Given the description of an element on the screen output the (x, y) to click on. 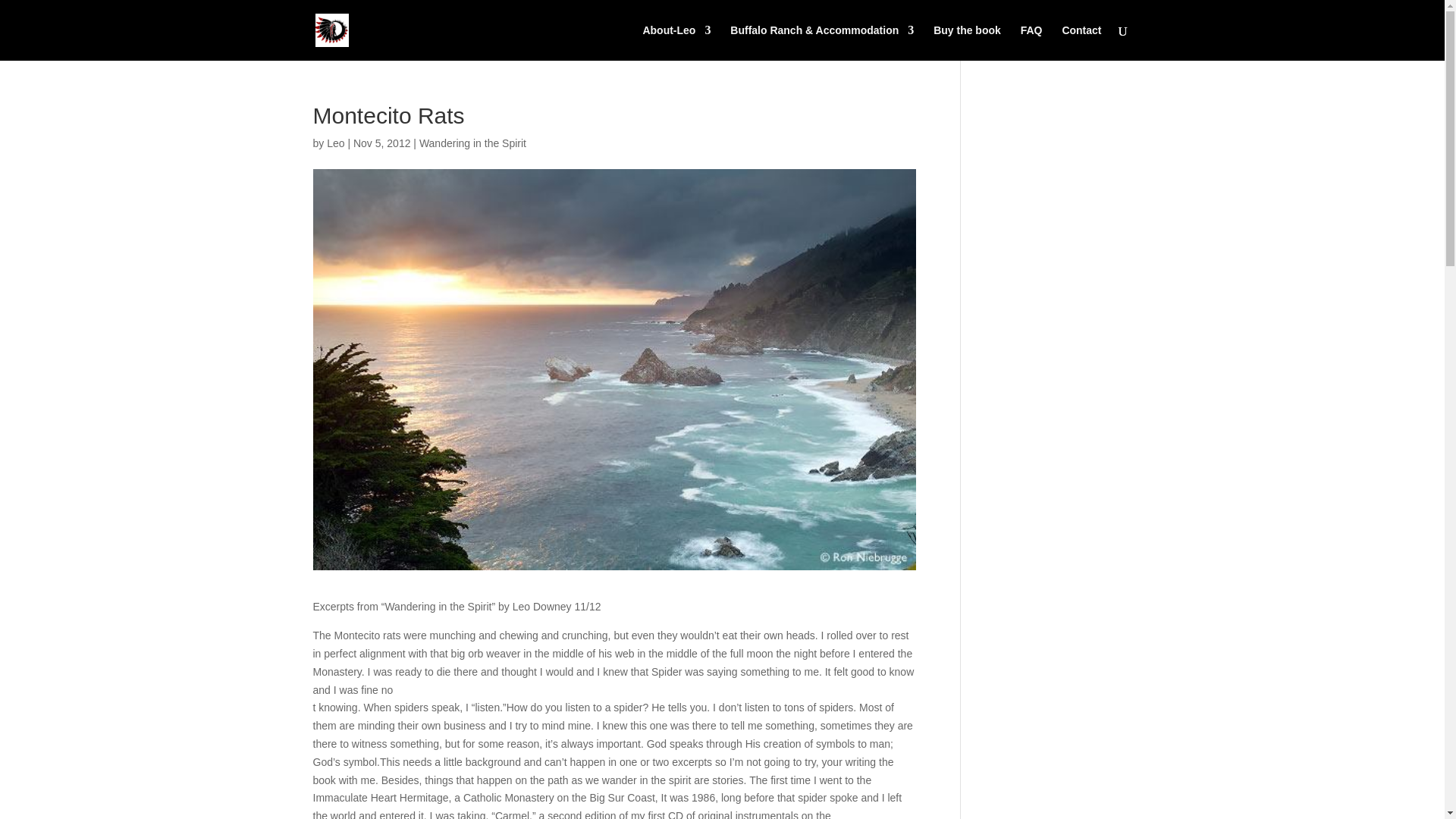
Leo (334, 143)
Wandering in the Spirit (472, 143)
About-Leo (676, 42)
Contact (1080, 42)
Posts by Leo (334, 143)
Buy the book (967, 42)
